Given the description of an element on the screen output the (x, y) to click on. 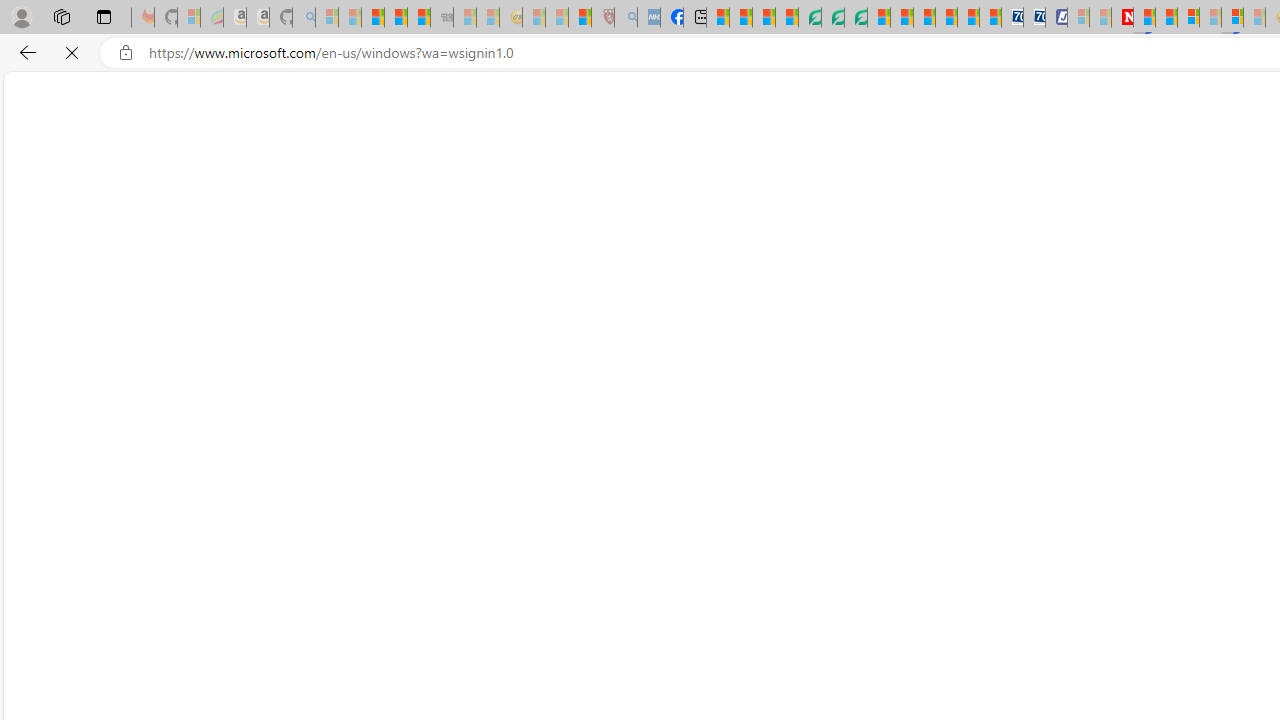
Microsoft Word - consumer-privacy address update 2.2021 (855, 17)
LendingTree - Compare Lenders (809, 17)
